Given the description of an element on the screen output the (x, y) to click on. 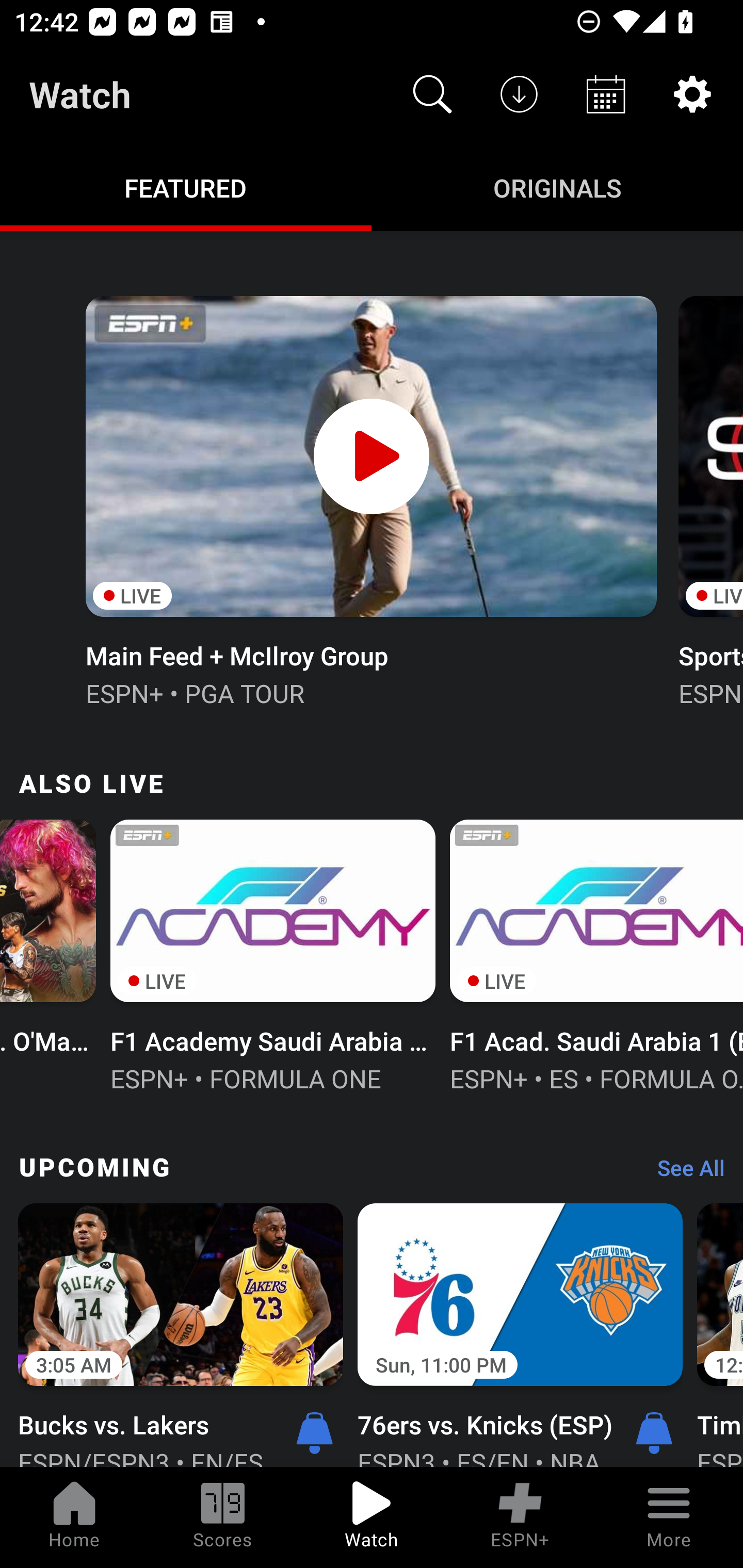
Search (432, 93)
Downloads (518, 93)
Schedule (605, 93)
Settings (692, 93)
Originals ORIGINALS (557, 187)
 LIVE Main Feed + McIlroy Group ESPN+ • PGA TOUR (370, 499)
See All (683, 1172)
Home (74, 1517)
Scores (222, 1517)
ESPN+ (519, 1517)
More (668, 1517)
